Given the description of an element on the screen output the (x, y) to click on. 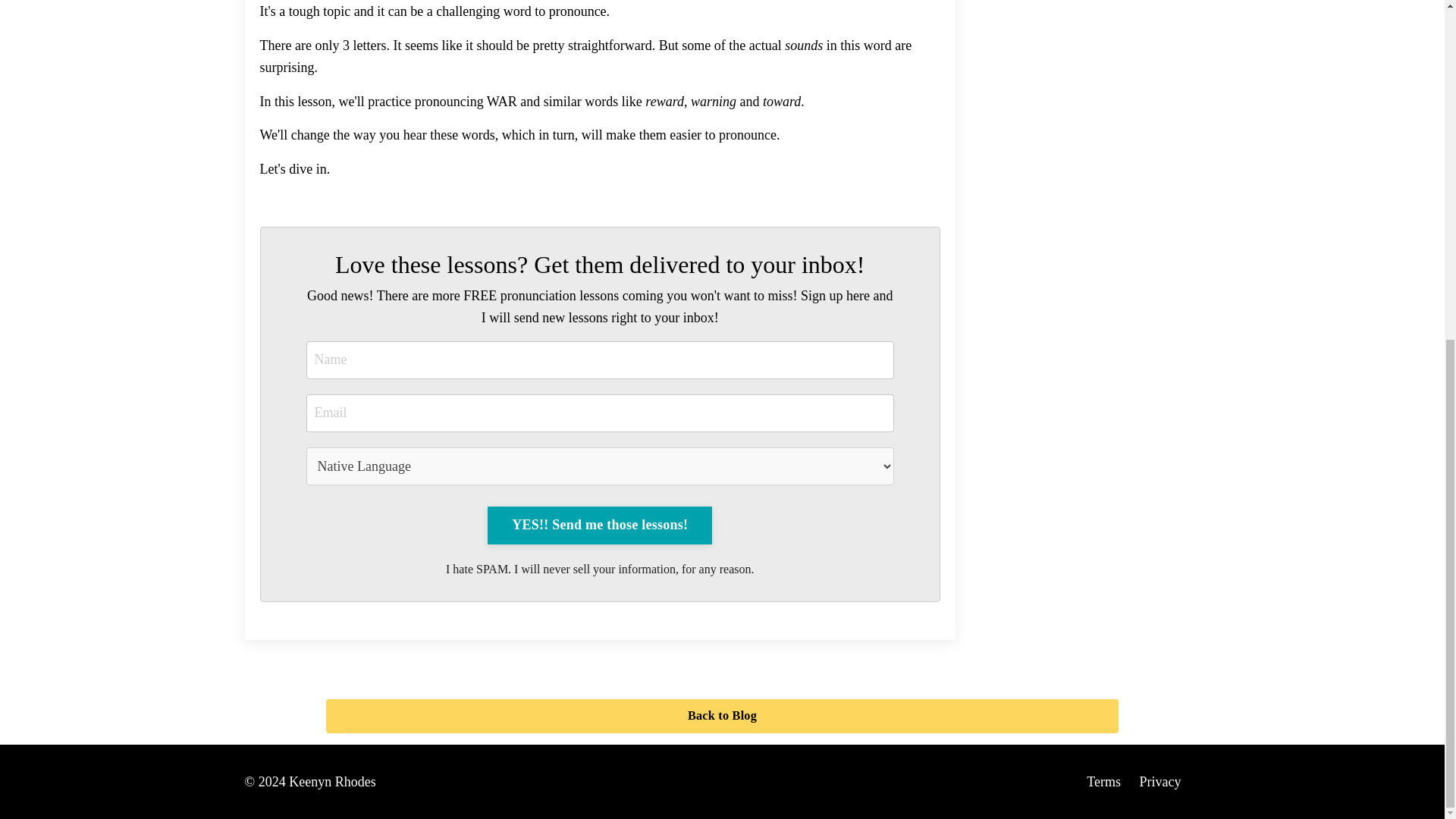
Back to Blog (722, 715)
YES!! Send me those lessons! (599, 525)
Terms (1103, 781)
Privacy (1160, 781)
YES!! Send me those lessons! (599, 525)
